Given the description of an element on the screen output the (x, y) to click on. 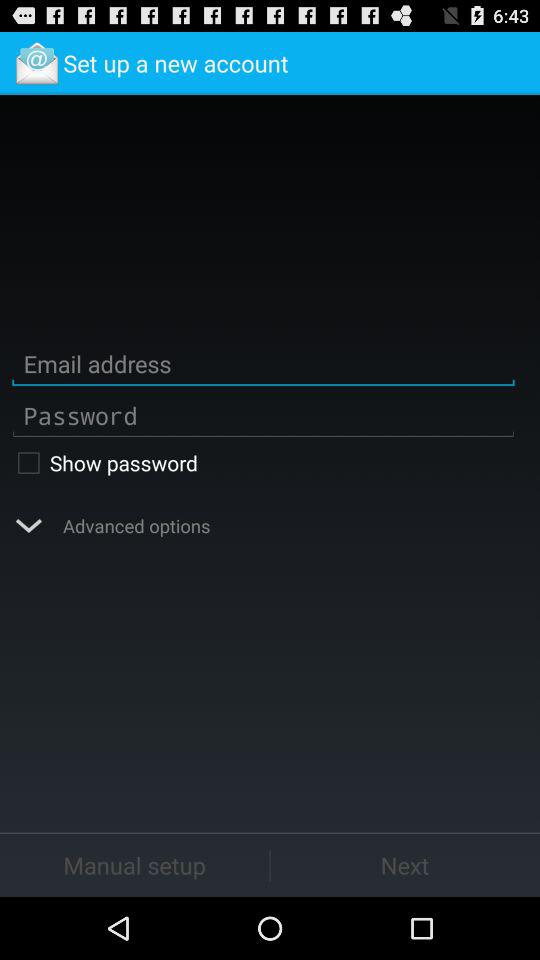
click icon next to the next item (134, 864)
